Given the description of an element on the screen output the (x, y) to click on. 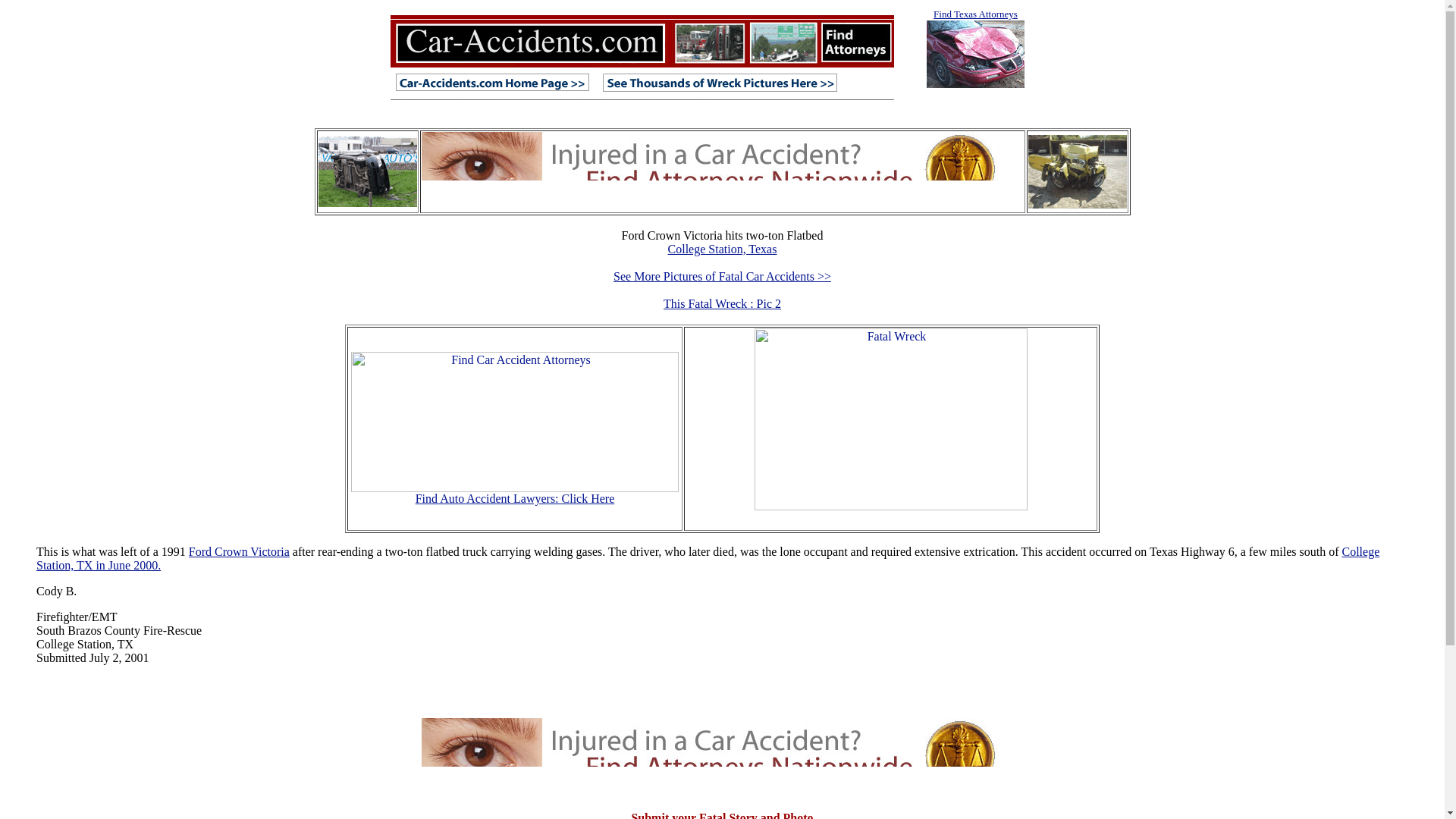
College Station, TX in June 2000. (707, 558)
College Station, Texas (722, 248)
This Fatal Wreck : Pic 2 (721, 303)
Find Texas Attorneys (975, 49)
Find Auto Accident Lawyers: Click Here (514, 498)
Ford Crown Victoria (239, 551)
